Given the description of an element on the screen output the (x, y) to click on. 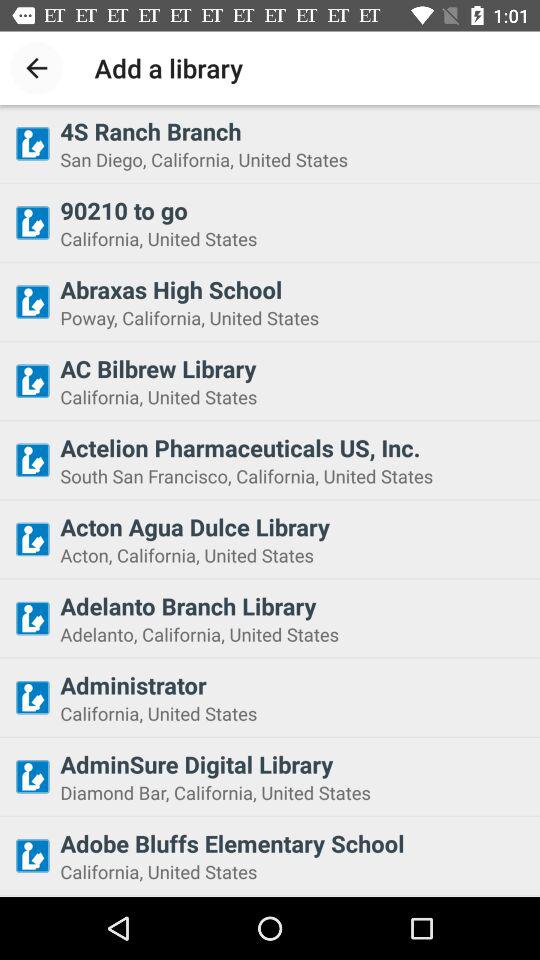
select icon below the abraxas high school item (294, 317)
